Given the description of an element on the screen output the (x, y) to click on. 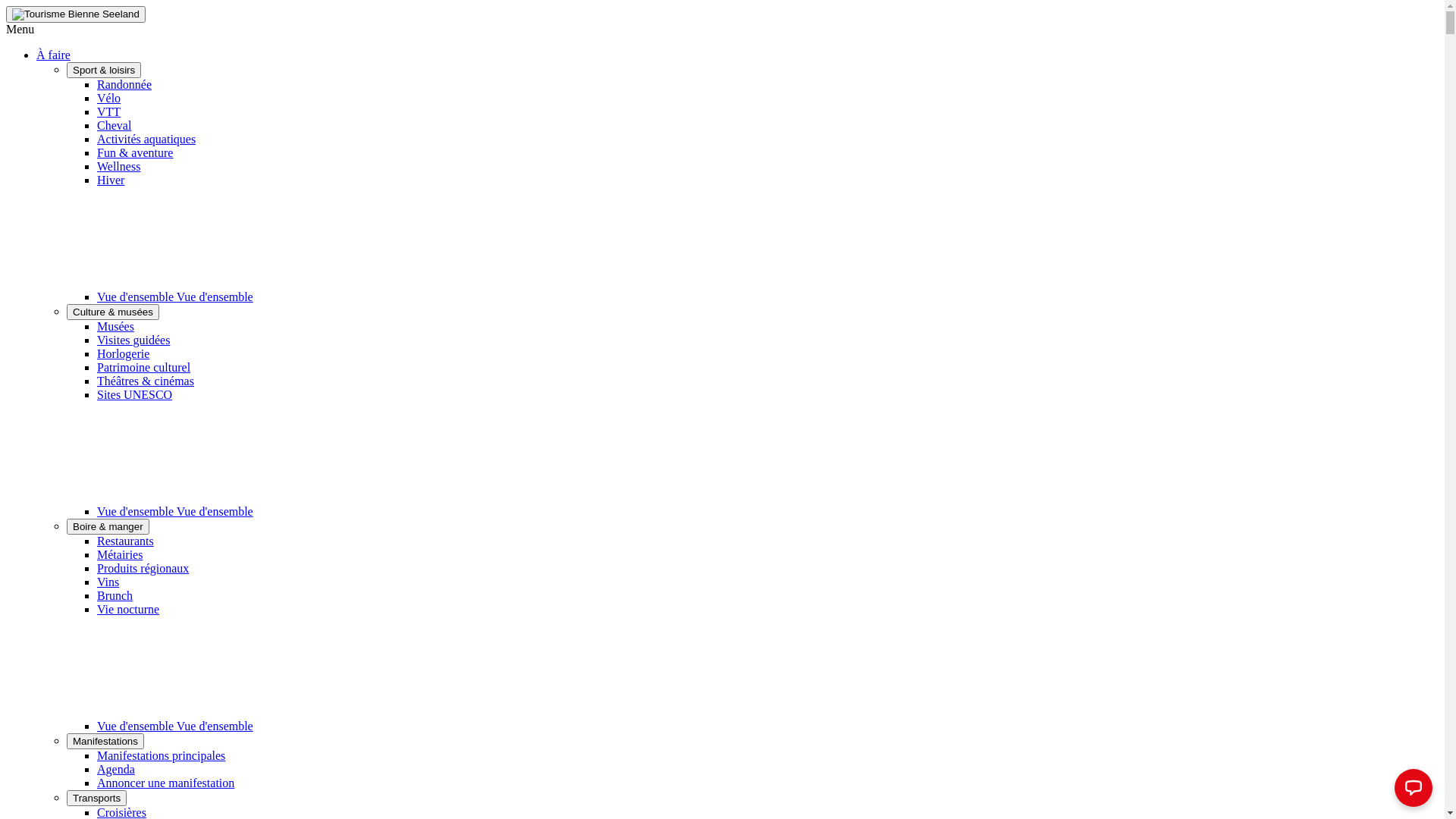
Brunch Element type: text (114, 595)
Sport & loisirs Element type: text (103, 70)
Vins Element type: text (108, 581)
Cheval Element type: text (114, 125)
Manifestations Element type: text (105, 741)
Boire & manger Element type: text (107, 526)
Wellness Element type: text (118, 166)
Sites UNESCO Element type: text (134, 394)
Patrimoine culturel Element type: text (143, 366)
Agenda Element type: text (115, 768)
Vie nocturne Element type: text (128, 608)
Horlogerie Element type: text (123, 353)
Fun & aventure Element type: text (134, 152)
Manifestations principales Element type: text (161, 755)
VTT Element type: text (108, 111)
Transports Element type: text (96, 798)
Vue d'ensemble Vue d'ensemble Element type: text (288, 511)
Vue d'ensemble Vue d'ensemble Element type: text (288, 725)
Hiver Element type: text (110, 179)
Restaurants Element type: text (125, 540)
Annoncer une manifestation Element type: text (165, 782)
Vue d'ensemble Vue d'ensemble Element type: text (288, 296)
